Given the description of an element on the screen output the (x, y) to click on. 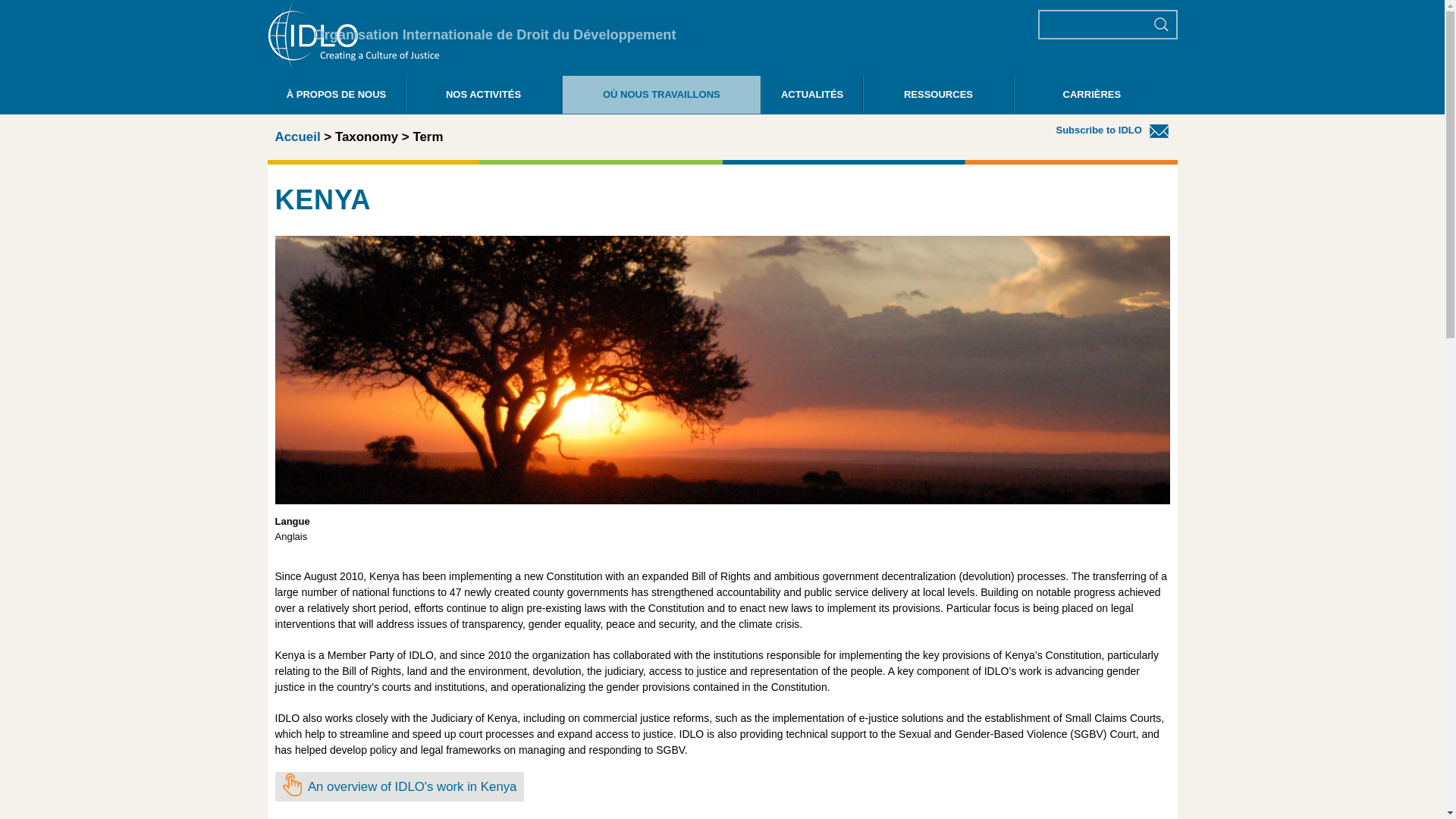
Aller au contenu principal (695, 1)
IDLO (352, 67)
